Given the description of an element on the screen output the (x, y) to click on. 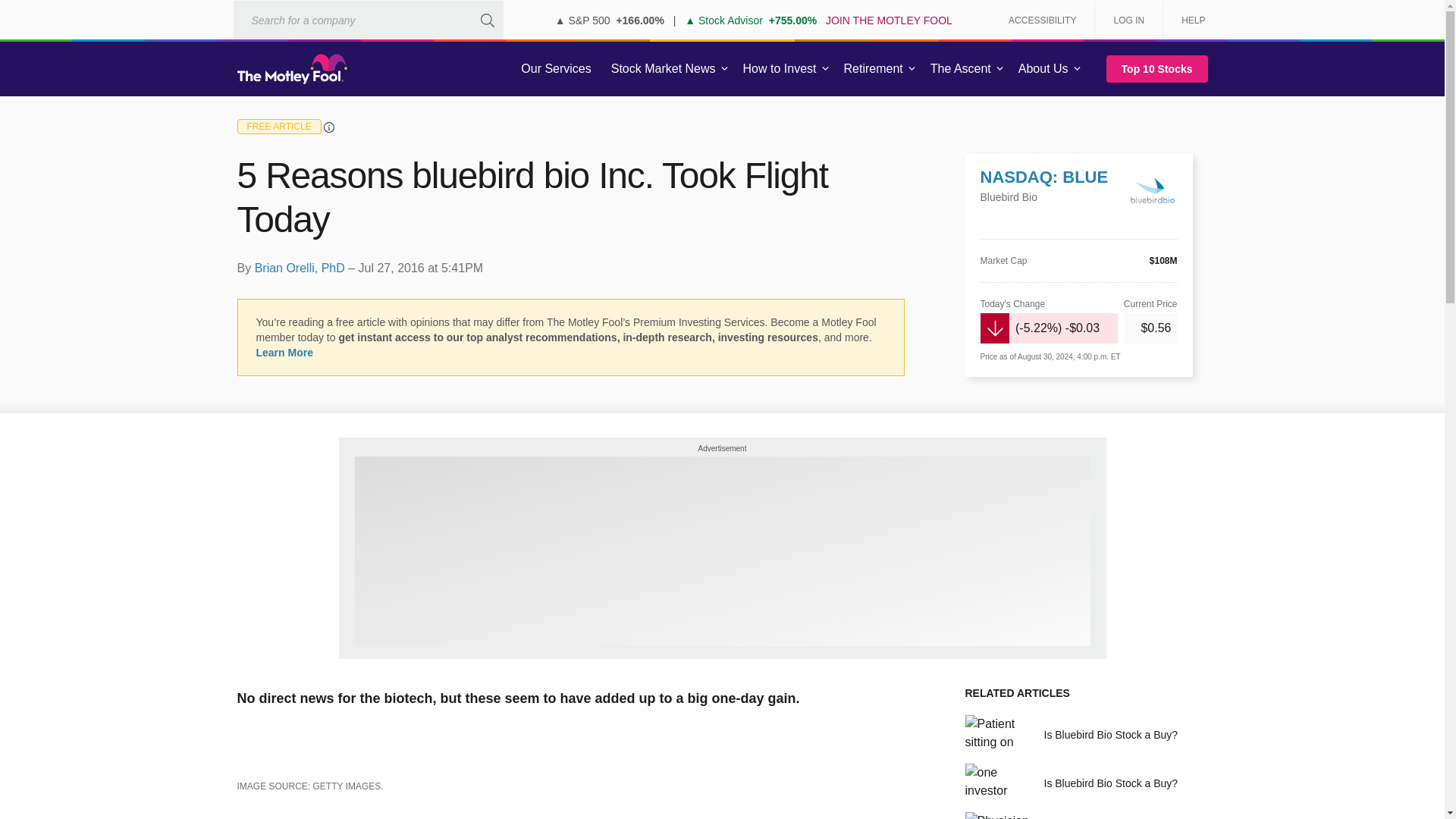
LOG IN (1128, 19)
How to Invest (779, 68)
ACCESSIBILITY (1042, 19)
HELP (1187, 19)
Stock Market News (662, 68)
Our Services (555, 68)
